Given the description of an element on the screen output the (x, y) to click on. 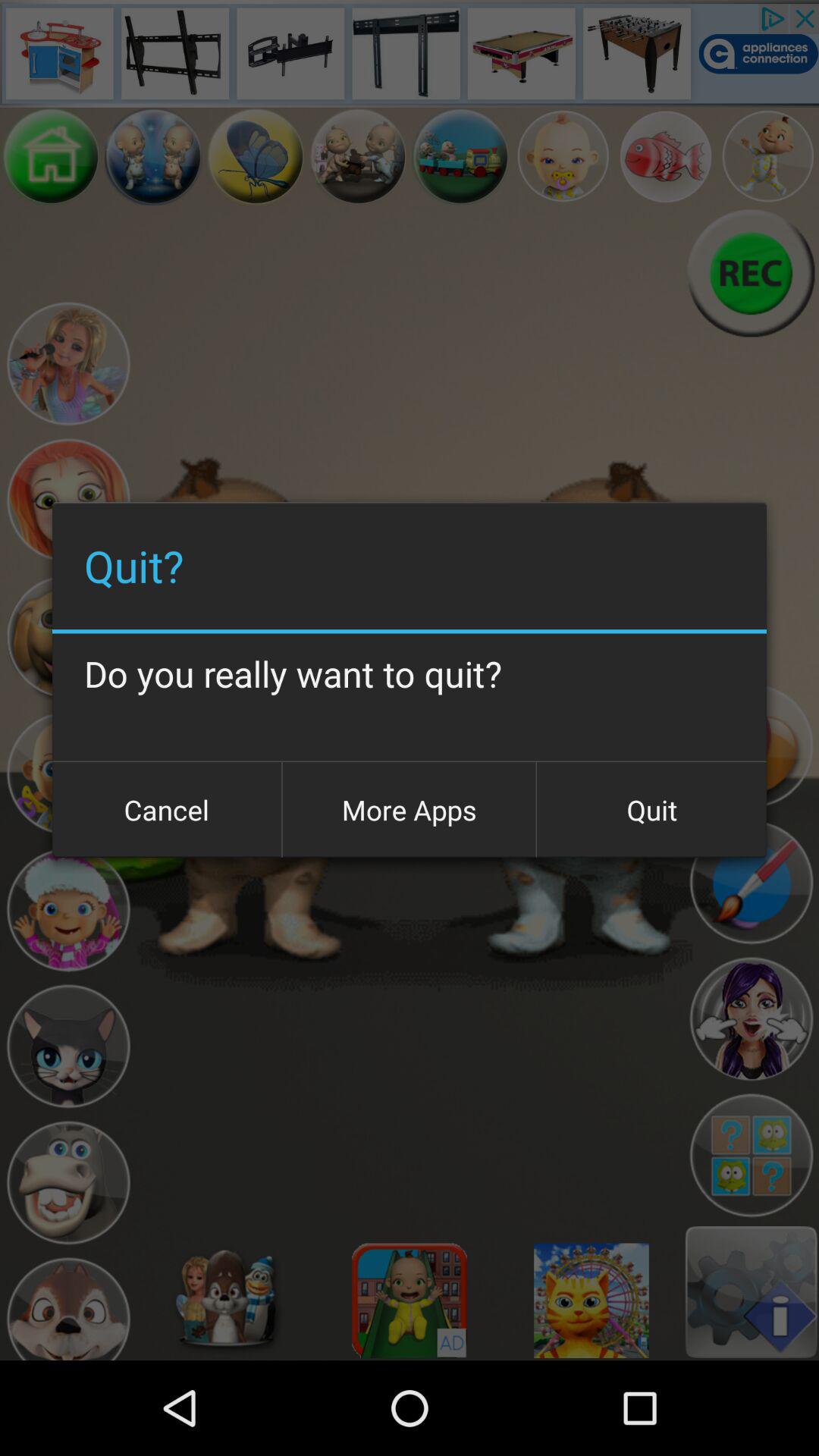
in app advertisement (409, 53)
